Given the description of an element on the screen output the (x, y) to click on. 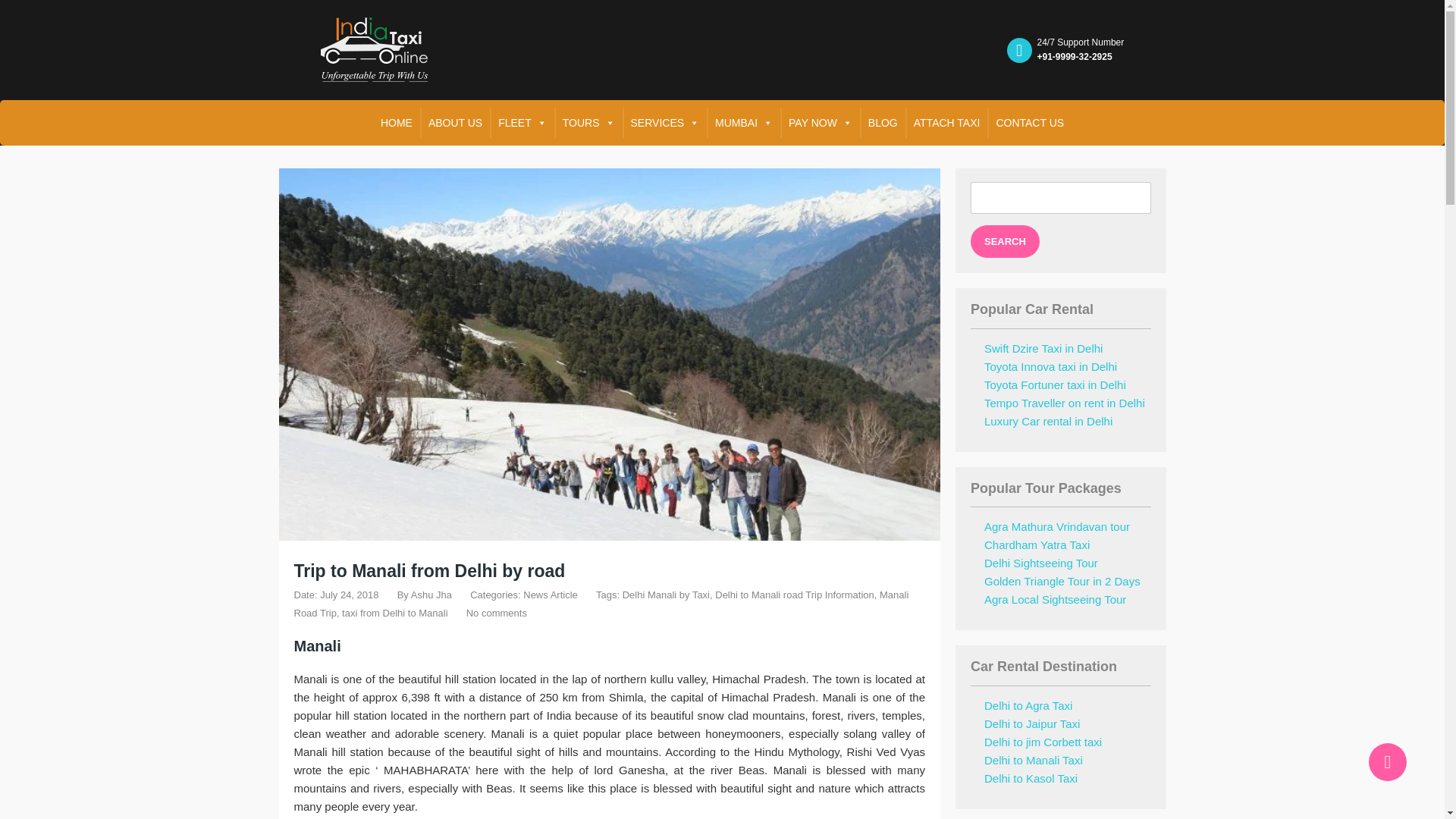
ABOUT US (454, 122)
HOME (396, 122)
TOURS (588, 122)
Back up (1387, 761)
Posts by Ashu Jha (430, 594)
Search (1005, 241)
FLEET (522, 122)
